Given the description of an element on the screen output the (x, y) to click on. 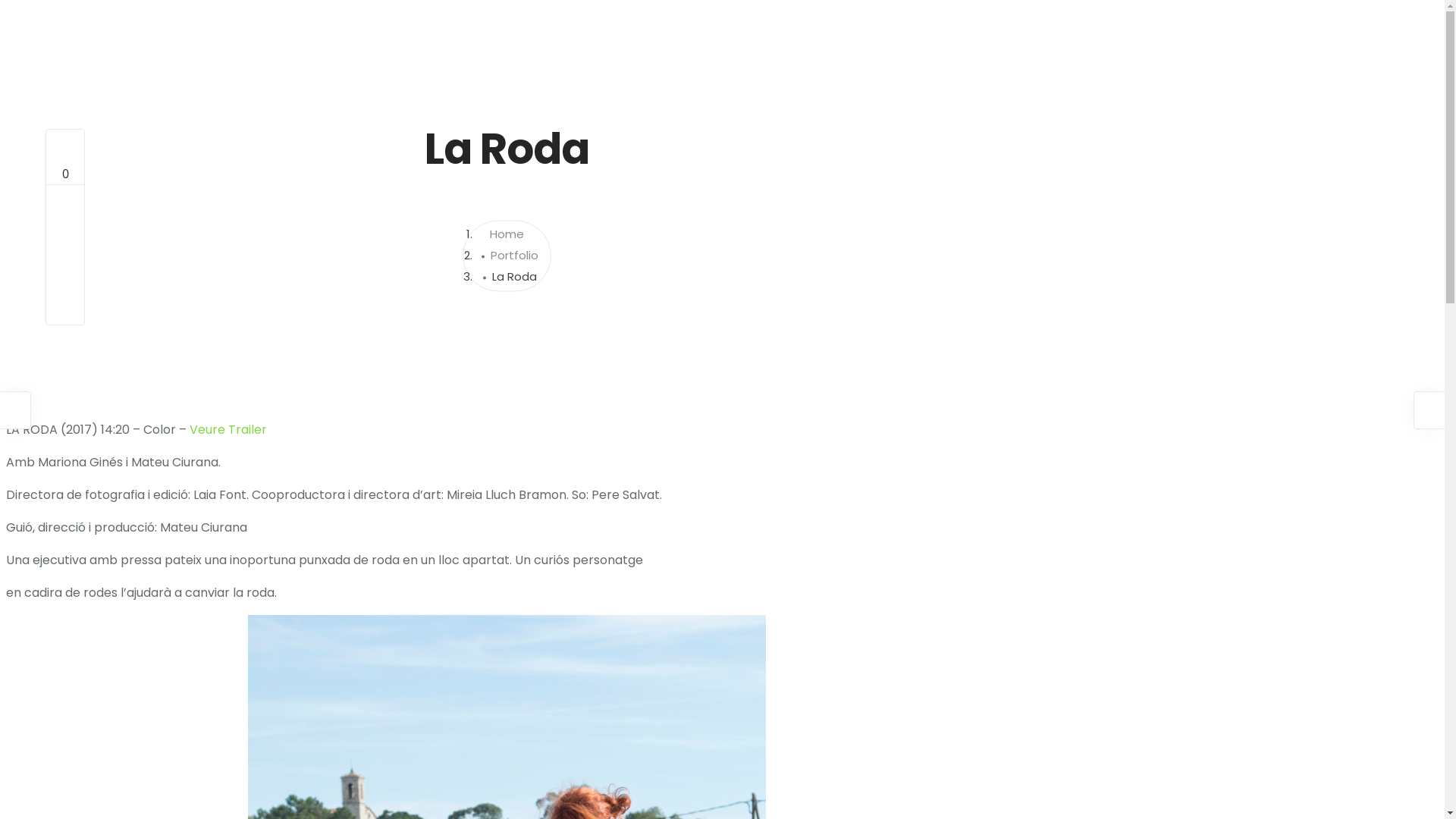
Home Element type: text (506, 234)
0 Element type: text (65, 163)
Portfolio Element type: text (513, 255)
Veure Trailer Element type: text (227, 429)
